Given the description of an element on the screen output the (x, y) to click on. 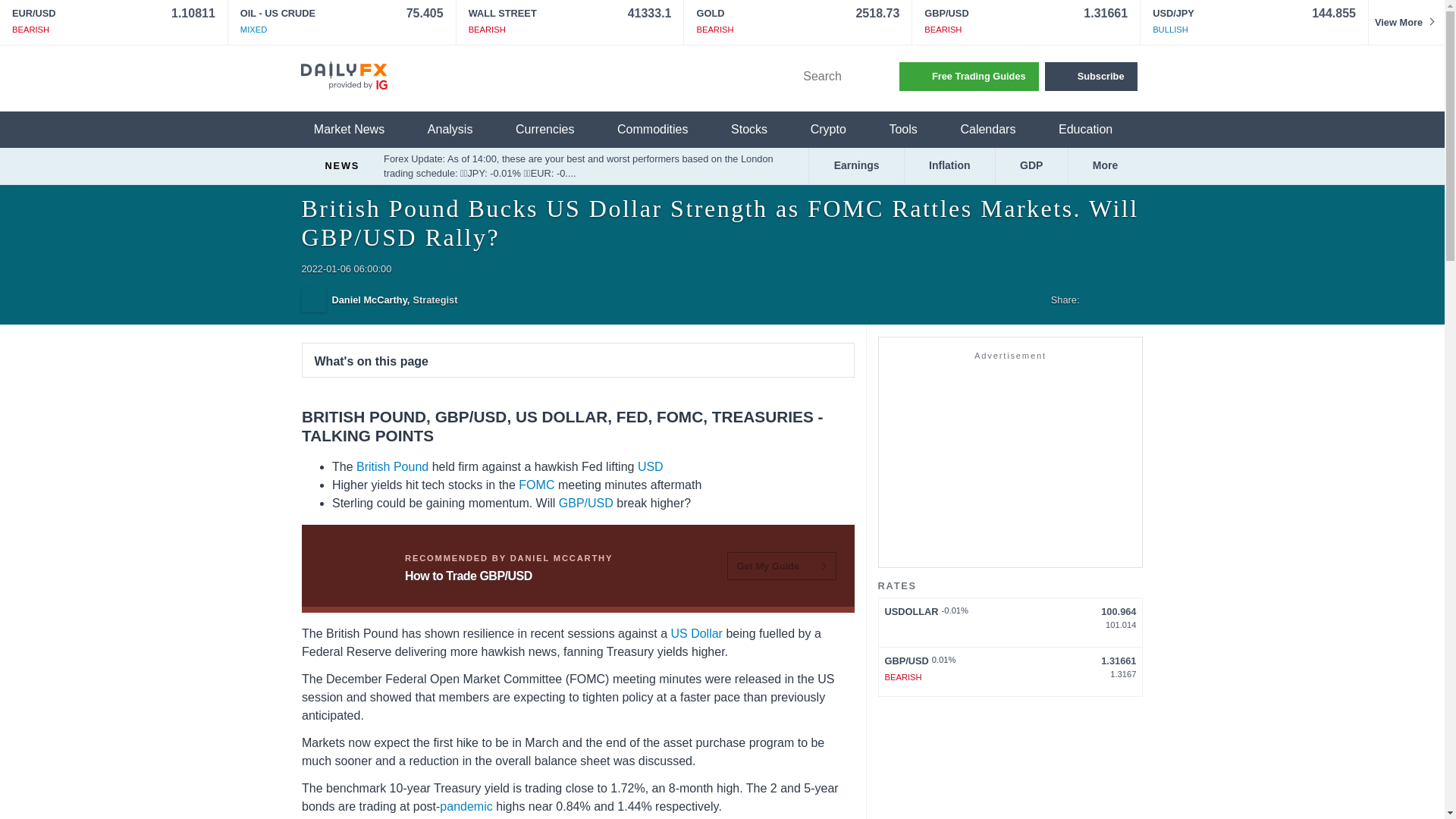
Free Trading Guides (969, 76)
Analysis (458, 129)
Currencies (554, 129)
Market News (357, 129)
USD (649, 466)
British Pound (392, 466)
pandemic (465, 806)
US Dollar (695, 633)
Subscribe (1091, 76)
FOMC (536, 484)
